Given the description of an element on the screen output the (x, y) to click on. 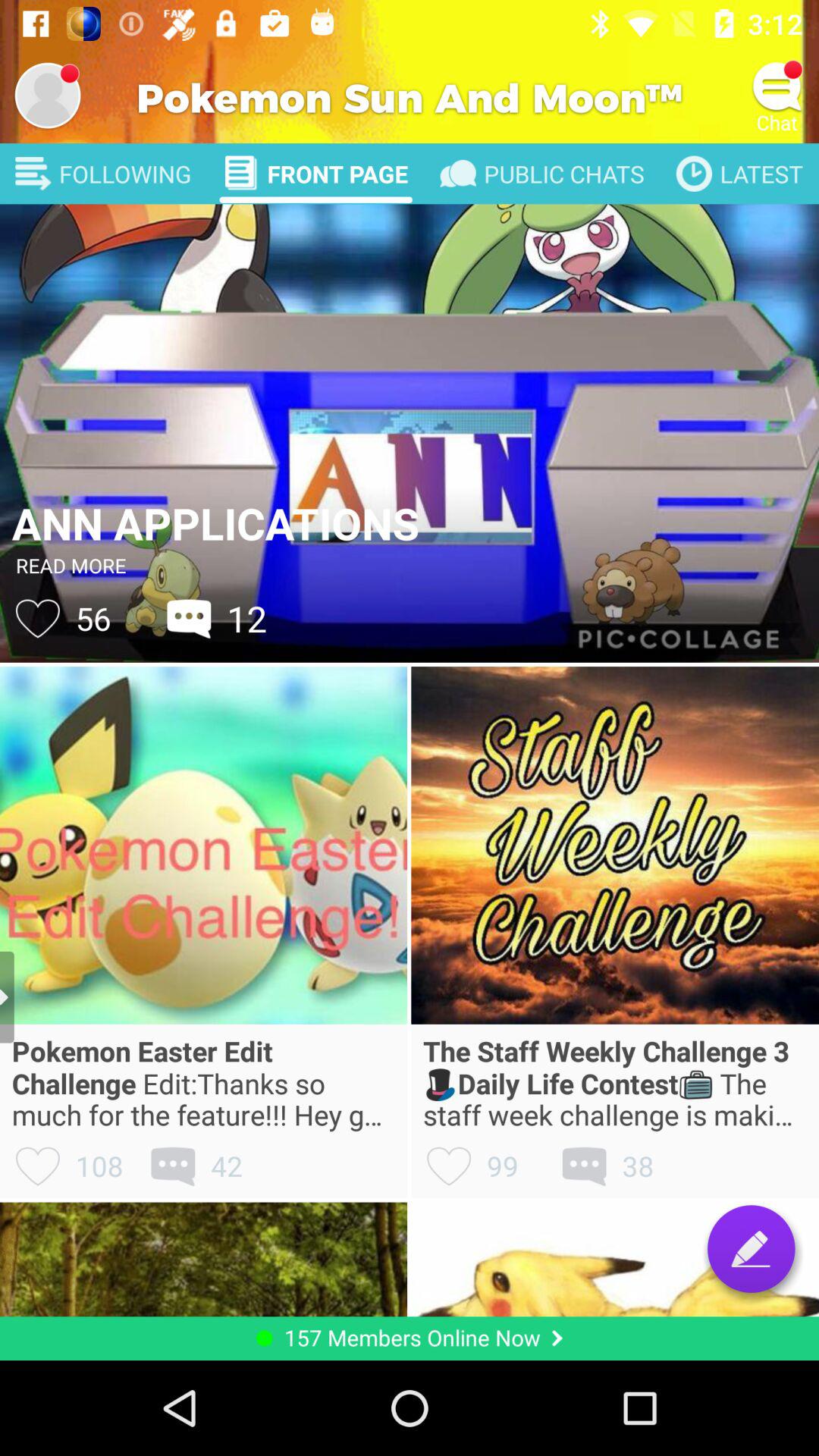
change profile picture (47, 95)
